Given the description of an element on the screen output the (x, y) to click on. 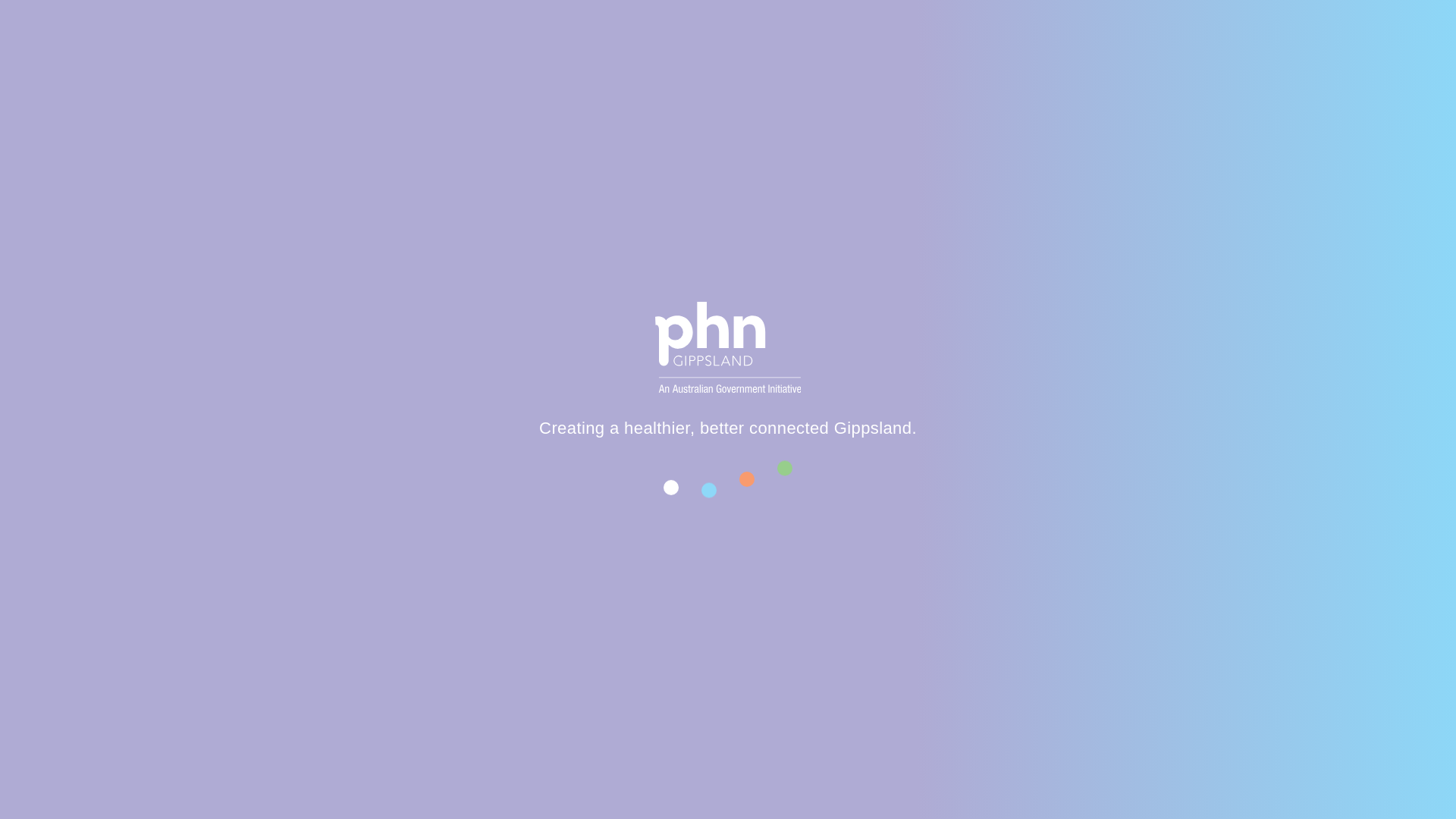
Contact Us (1019, 20)
Careers (775, 20)
What We Do (657, 98)
